Given the description of an element on the screen output the (x, y) to click on. 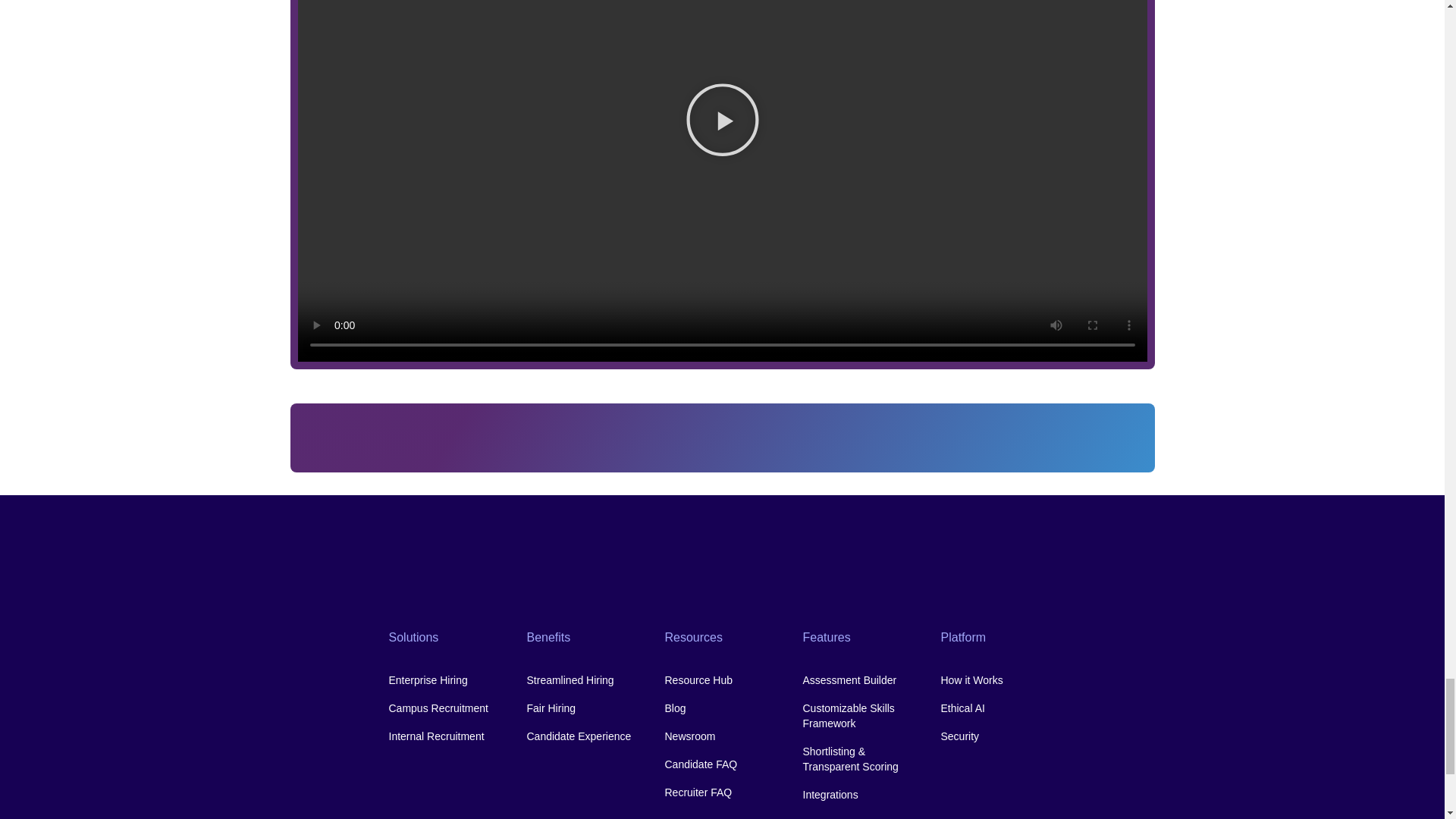
Resource Hub (720, 679)
Campus Recruitment (445, 708)
Recruiter FAQ (720, 792)
Streamlined Hiring (583, 679)
Candidate Experience (583, 735)
Blog (720, 708)
Internal Recruitment (445, 735)
Integrations (859, 794)
Assessment Builder (859, 679)
Enterprise Hiring (445, 679)
